Given the description of an element on the screen output the (x, y) to click on. 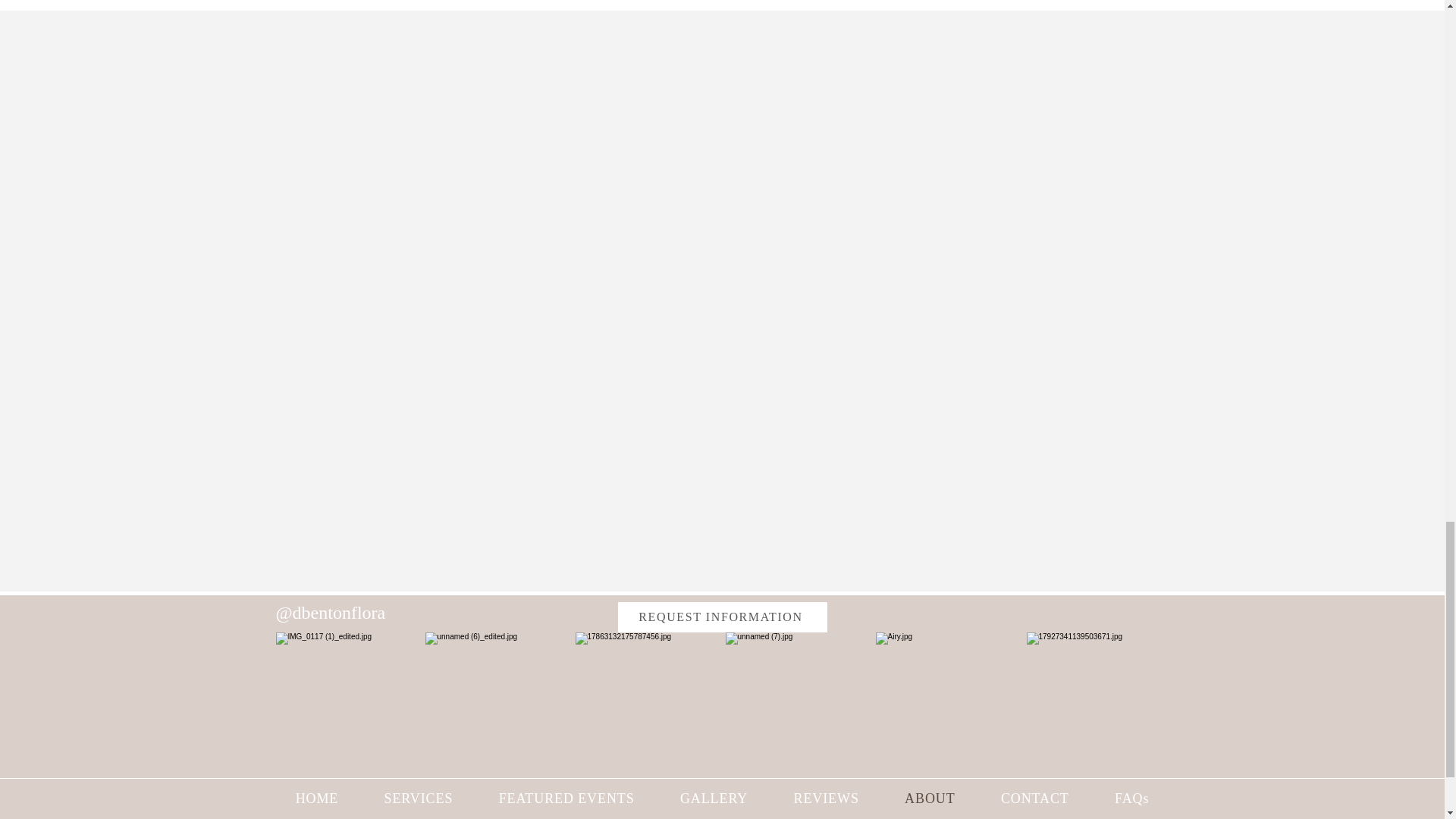
REQUEST INFORMATION (722, 616)
HOME (317, 798)
FEATURED EVENTS (566, 798)
GALLERY (714, 798)
SERVICES (417, 798)
ABOUT (930, 798)
REVIEWS (826, 798)
FAQs (1131, 798)
CONTACT (1035, 798)
